Given the description of an element on the screen output the (x, y) to click on. 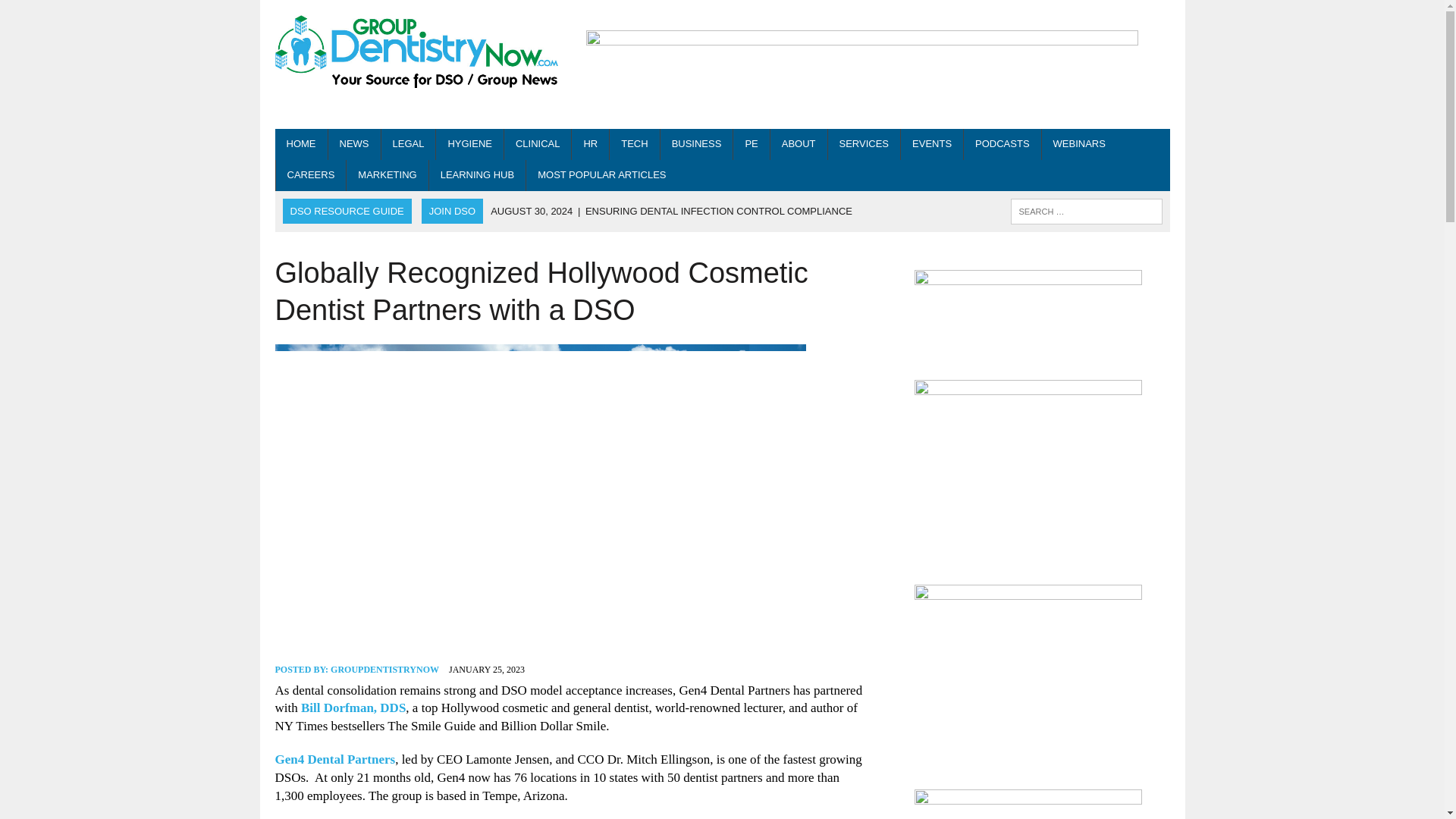
ABOUT (798, 143)
TECH (634, 143)
EVENTS (931, 143)
CLINICAL (537, 143)
Group Dentistry Now (416, 52)
HOME (300, 143)
HR (590, 143)
WEBINARS (1079, 143)
NEWS (353, 143)
